Given the description of an element on the screen output the (x, y) to click on. 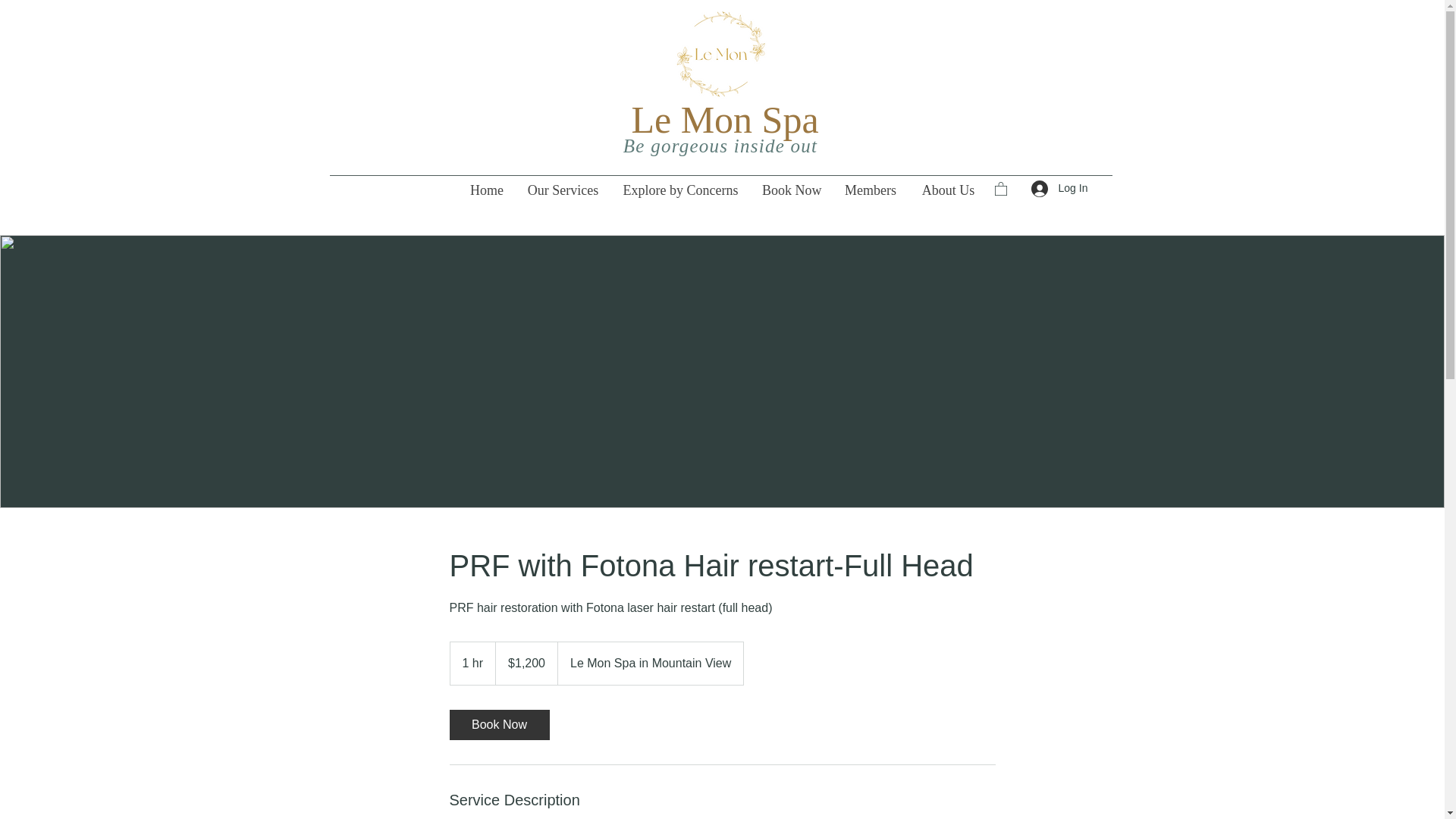
Book Now (790, 189)
Members (869, 189)
Le Mon Spa (724, 119)
Home (486, 189)
Book Now (498, 725)
Our Services (562, 189)
Explore by Concerns (679, 189)
Log In (1039, 188)
About Us (947, 189)
